Given the description of an element on the screen output the (x, y) to click on. 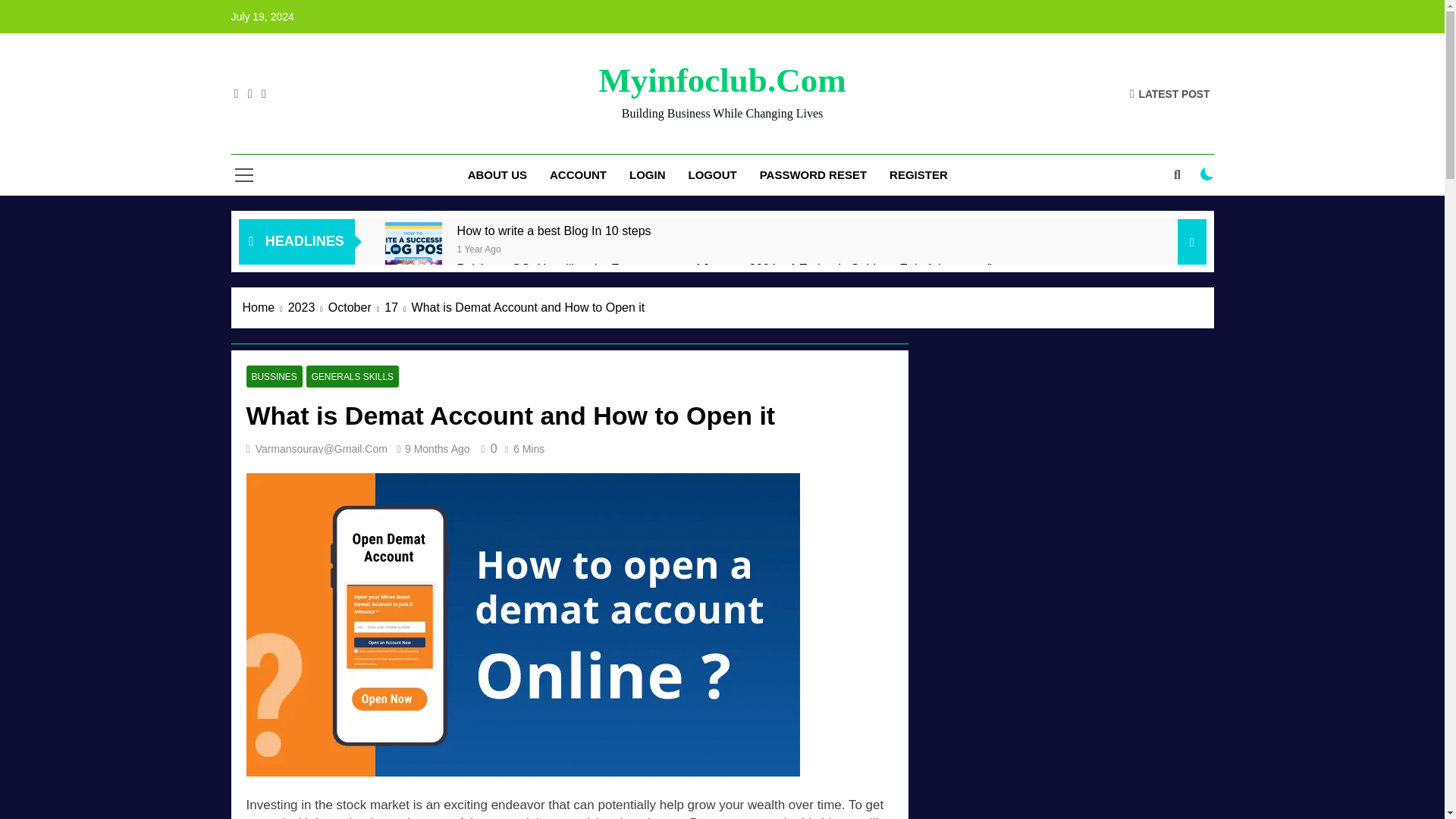
Myinfoclub.Com (721, 80)
on (1206, 173)
1 Year Ago (478, 247)
LOGIN (647, 174)
PASSWORD RESET (812, 174)
ABOUT US (497, 174)
LATEST POST (1169, 92)
How to write a best Blog In 10 steps (553, 230)
LOGOUT (712, 174)
REGISTER (918, 174)
How to write a best Blog In 10 steps (553, 230)
ACCOUNT (577, 174)
How to write a best Blog In 10 steps (413, 250)
